Given the description of an element on the screen output the (x, y) to click on. 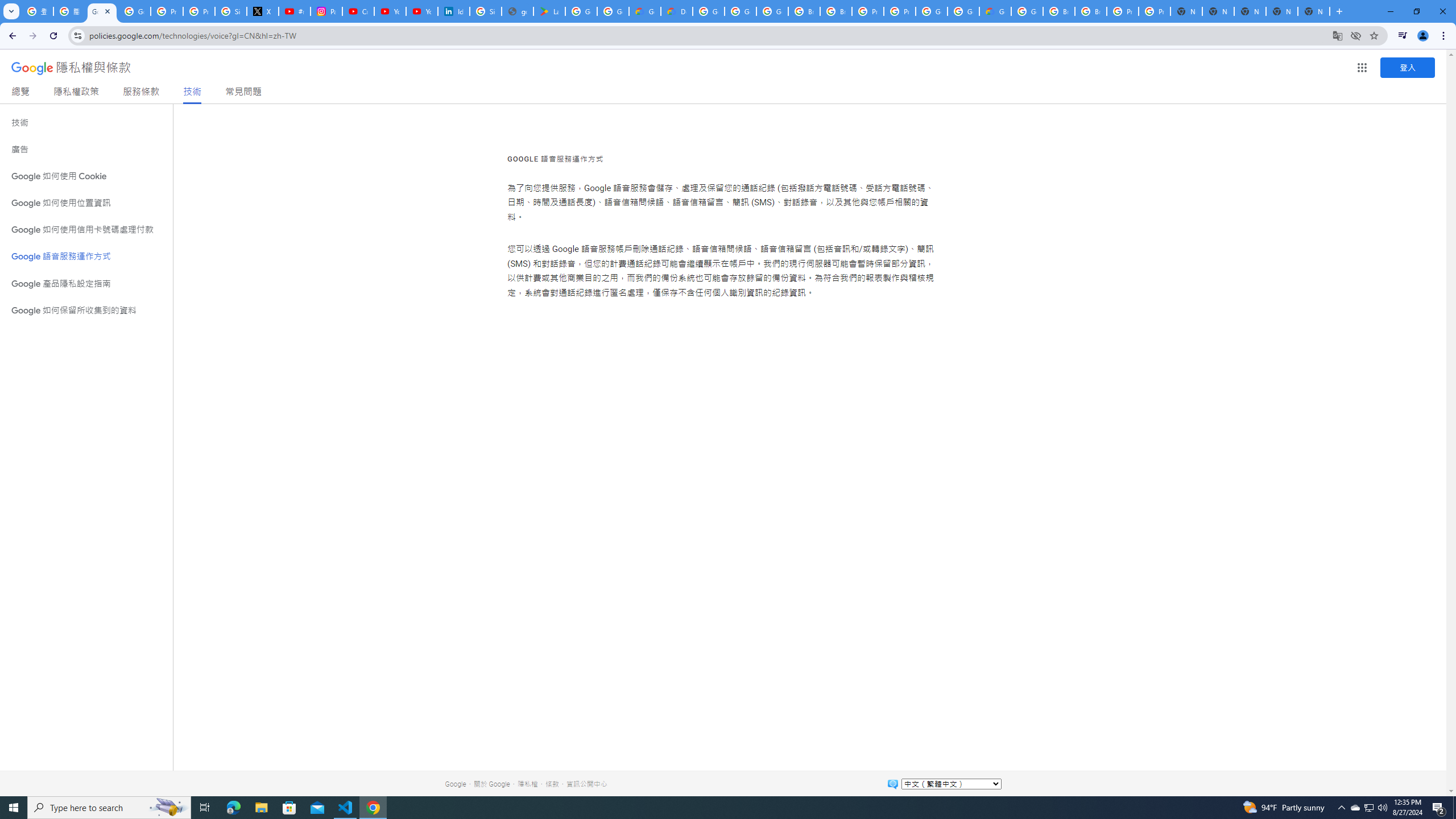
Google Cloud Platform (708, 11)
Browse Chrome as a guest - Computer - Google Chrome Help (804, 11)
